Given the description of an element on the screen output the (x, y) to click on. 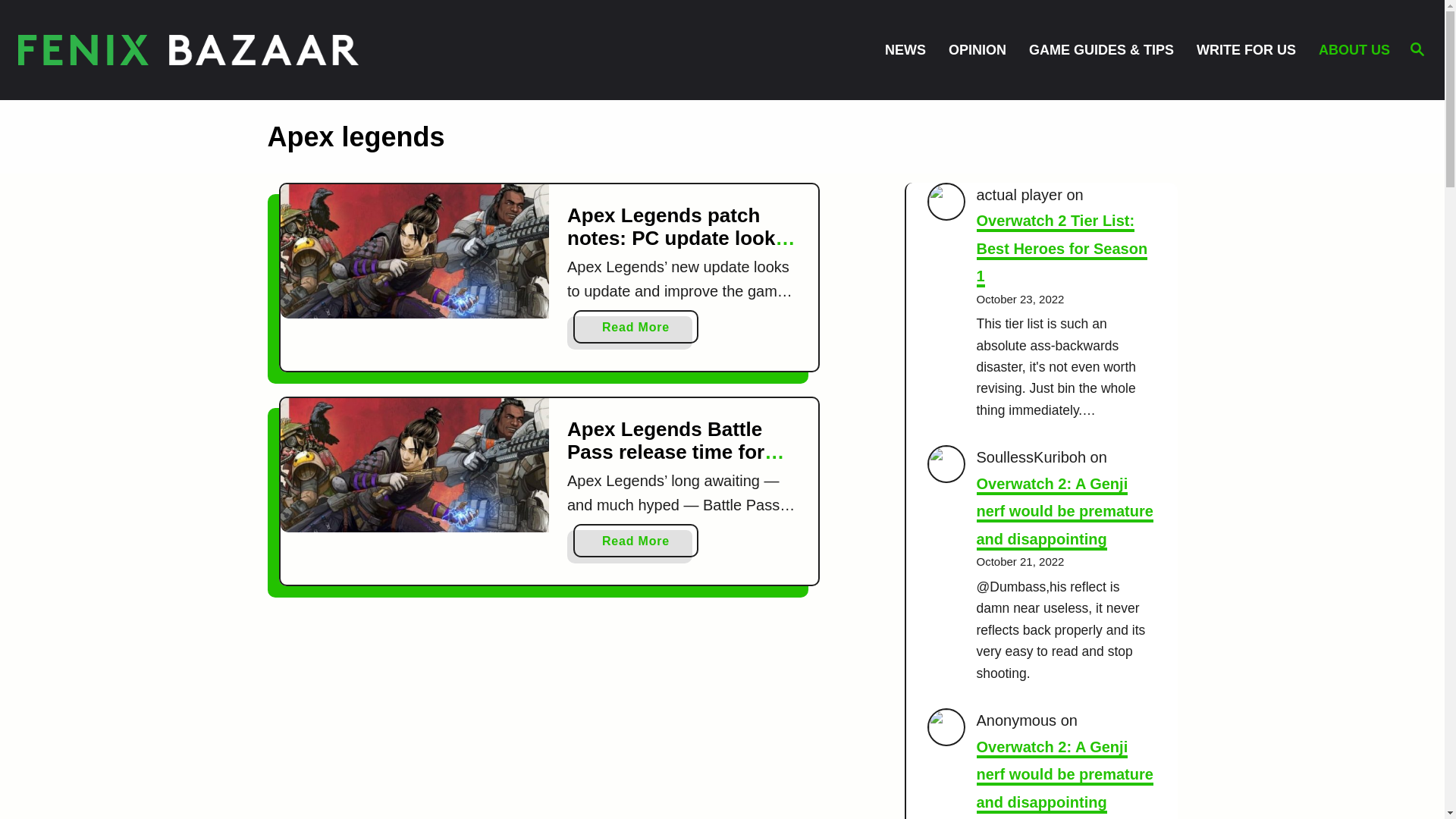
WRITE FOR US (1253, 49)
Apex Legends Battle Pass release time for your region (675, 451)
Magnifying Glass (1416, 48)
Fenix Bazaar (187, 50)
Apex Legends patch notes: PC update looks to fix crashes (415, 250)
ABOUT US (1352, 49)
Apex Legends Battle Pass release time for your region (415, 464)
OPINION (984, 49)
Apex Legends patch notes: PC update looks to fix crashes (680, 237)
NEWS (911, 49)
